Given the description of an element on the screen output the (x, y) to click on. 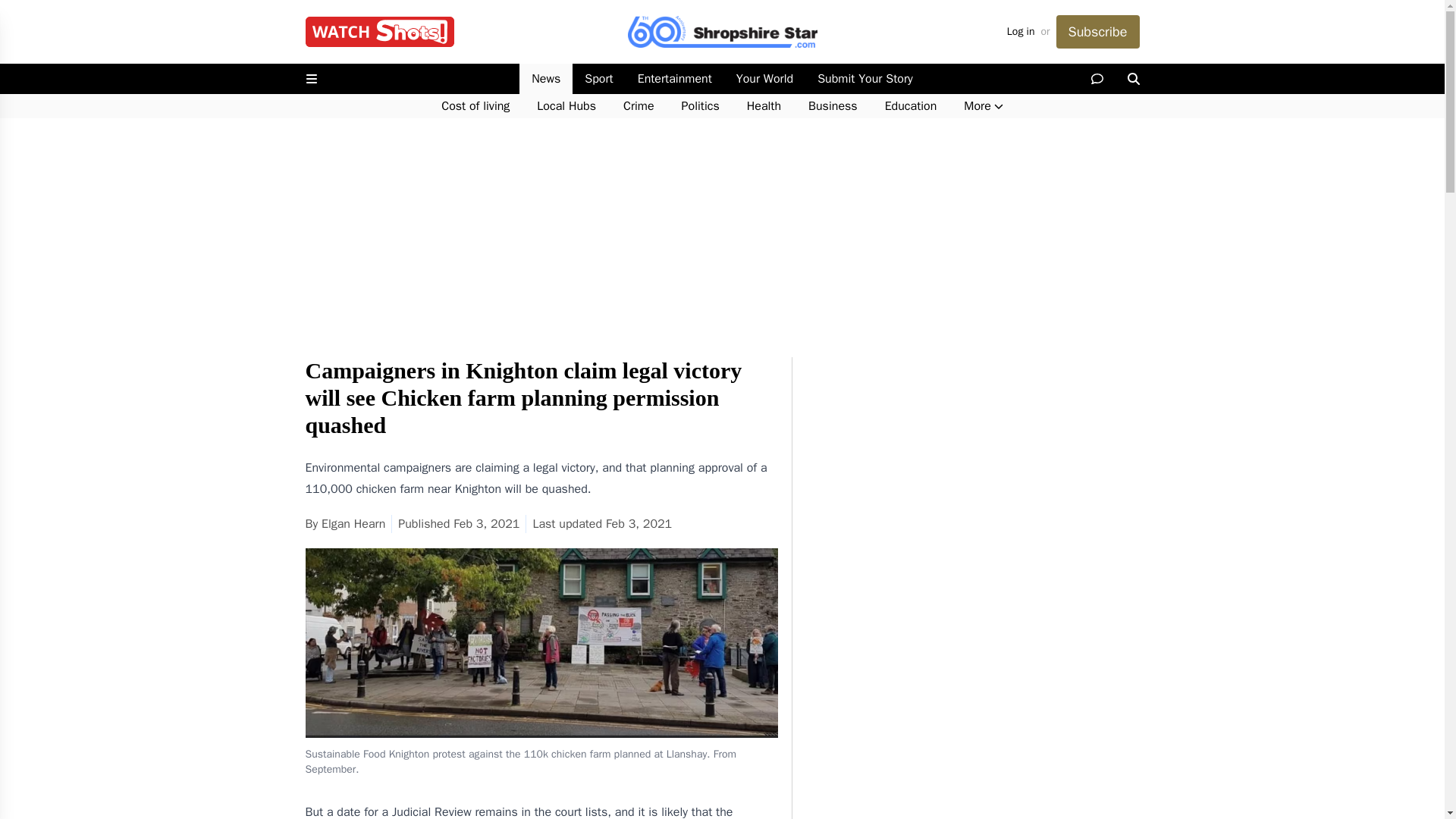
Subscribe (1096, 31)
Entertainment (674, 78)
Crime (638, 105)
Log in (1021, 31)
Your World (764, 78)
News (545, 78)
Business (832, 105)
Submit Your Story (864, 78)
Sport (598, 78)
Cost of living (475, 105)
Health (764, 105)
Politics (700, 105)
Education (910, 105)
More (983, 105)
Local Hubs (566, 105)
